Given the description of an element on the screen output the (x, y) to click on. 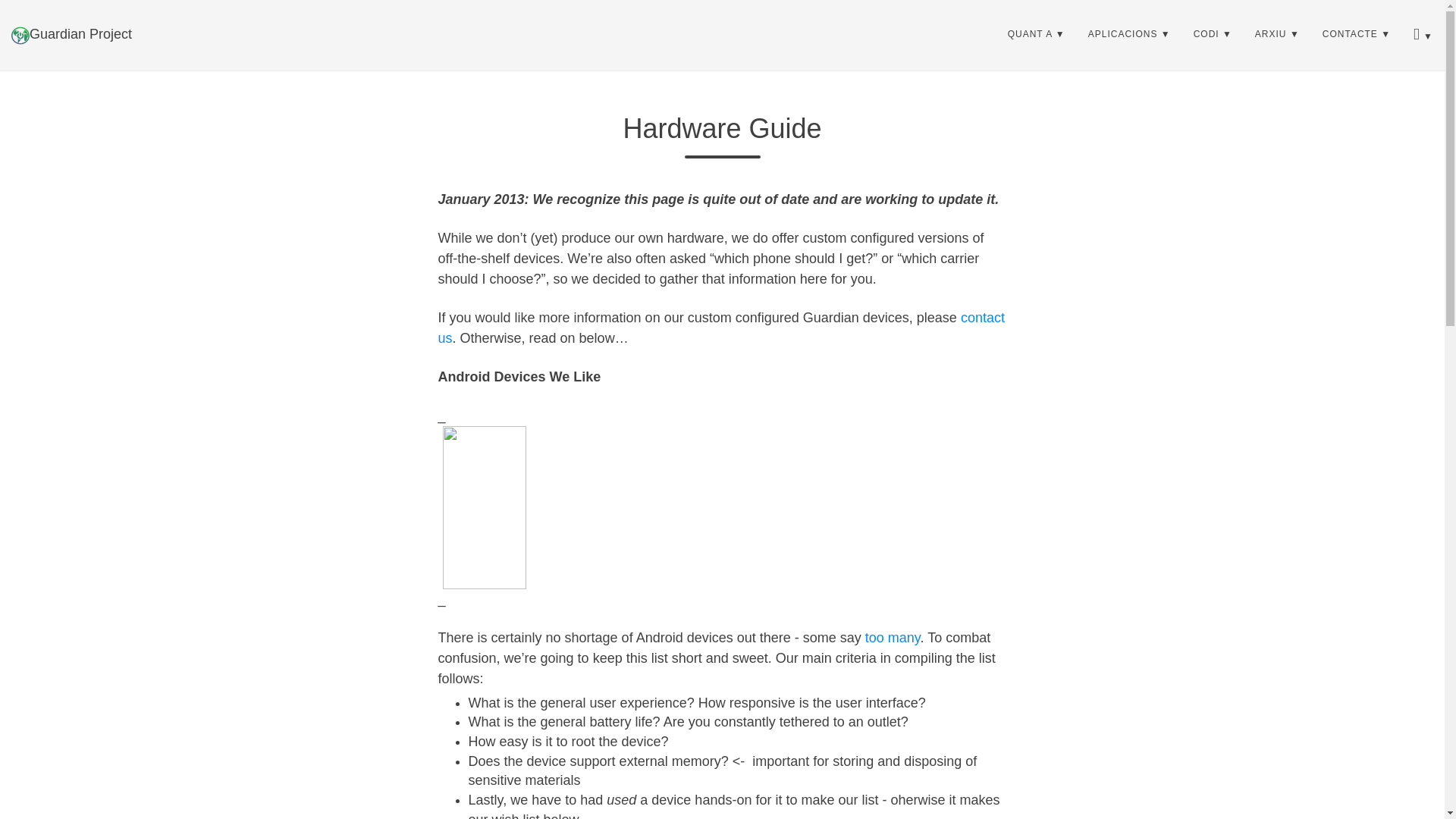
APLICACIONS (1129, 34)
Guardian Project (71, 34)
QUANT A (1036, 34)
ARXIU (1277, 34)
Guardian Project (71, 34)
CODI (1212, 34)
